Given the description of an element on the screen output the (x, y) to click on. 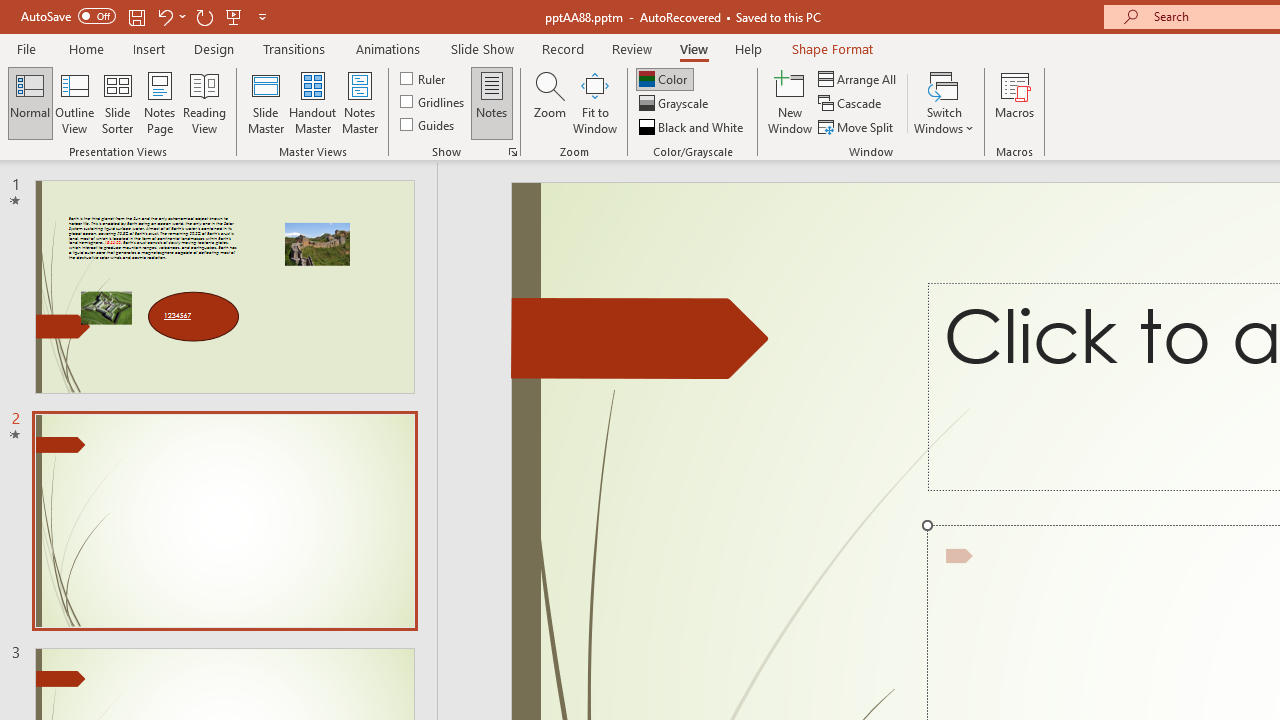
New Window (790, 102)
Gridlines (433, 101)
Fit to Window (594, 102)
Macros (1014, 102)
Handout Master (312, 102)
Ruler (423, 78)
Slide Master (265, 102)
